Given the description of an element on the screen output the (x, y) to click on. 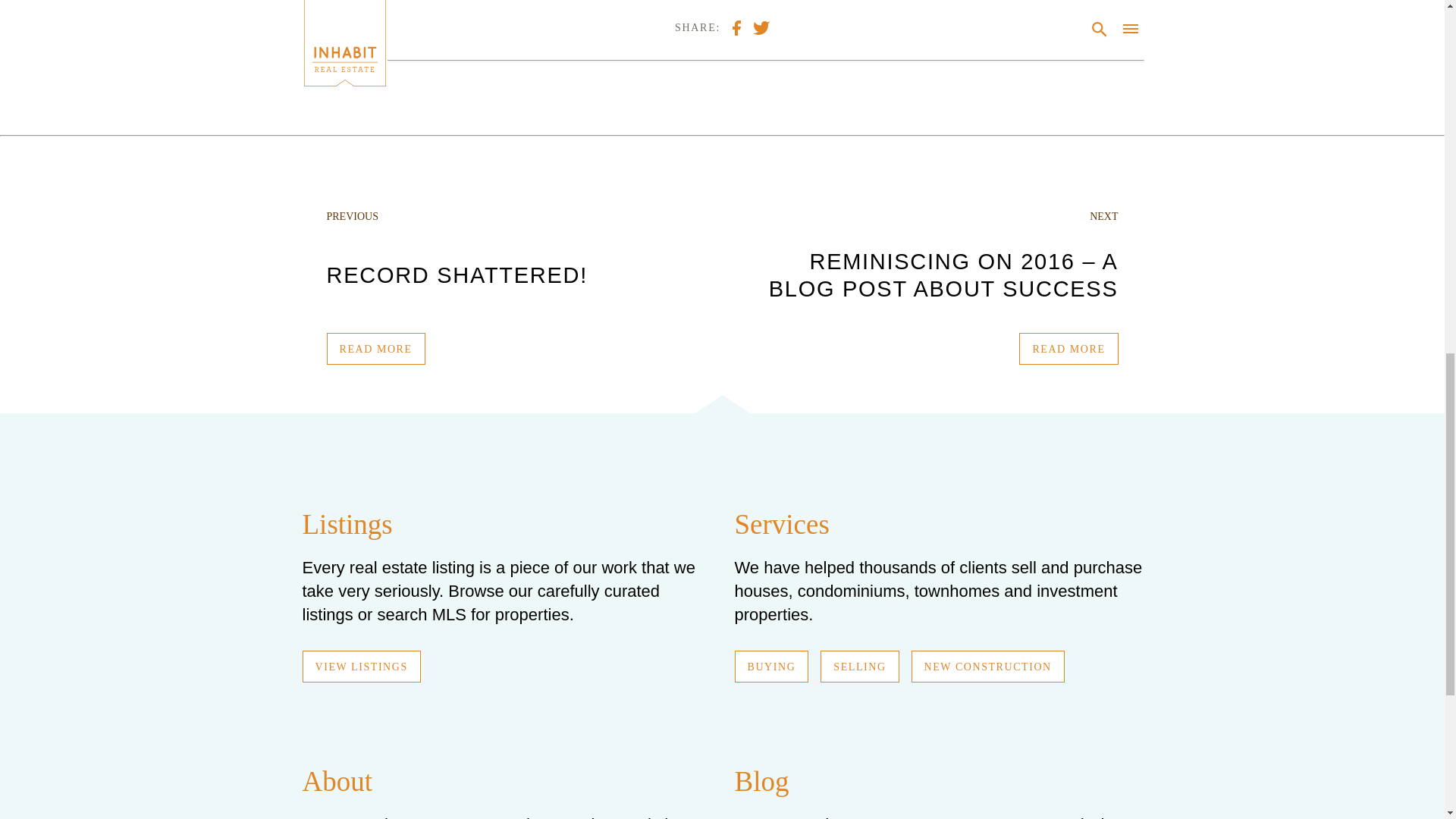
READ MORE (375, 348)
SELLING (859, 666)
About (336, 780)
VIEW LISTINGS (360, 666)
READ MORE (1068, 348)
BUYING (770, 666)
Listings (346, 523)
Services (780, 523)
NEW CONSTRUCTION (987, 666)
